Given the description of an element on the screen output the (x, y) to click on. 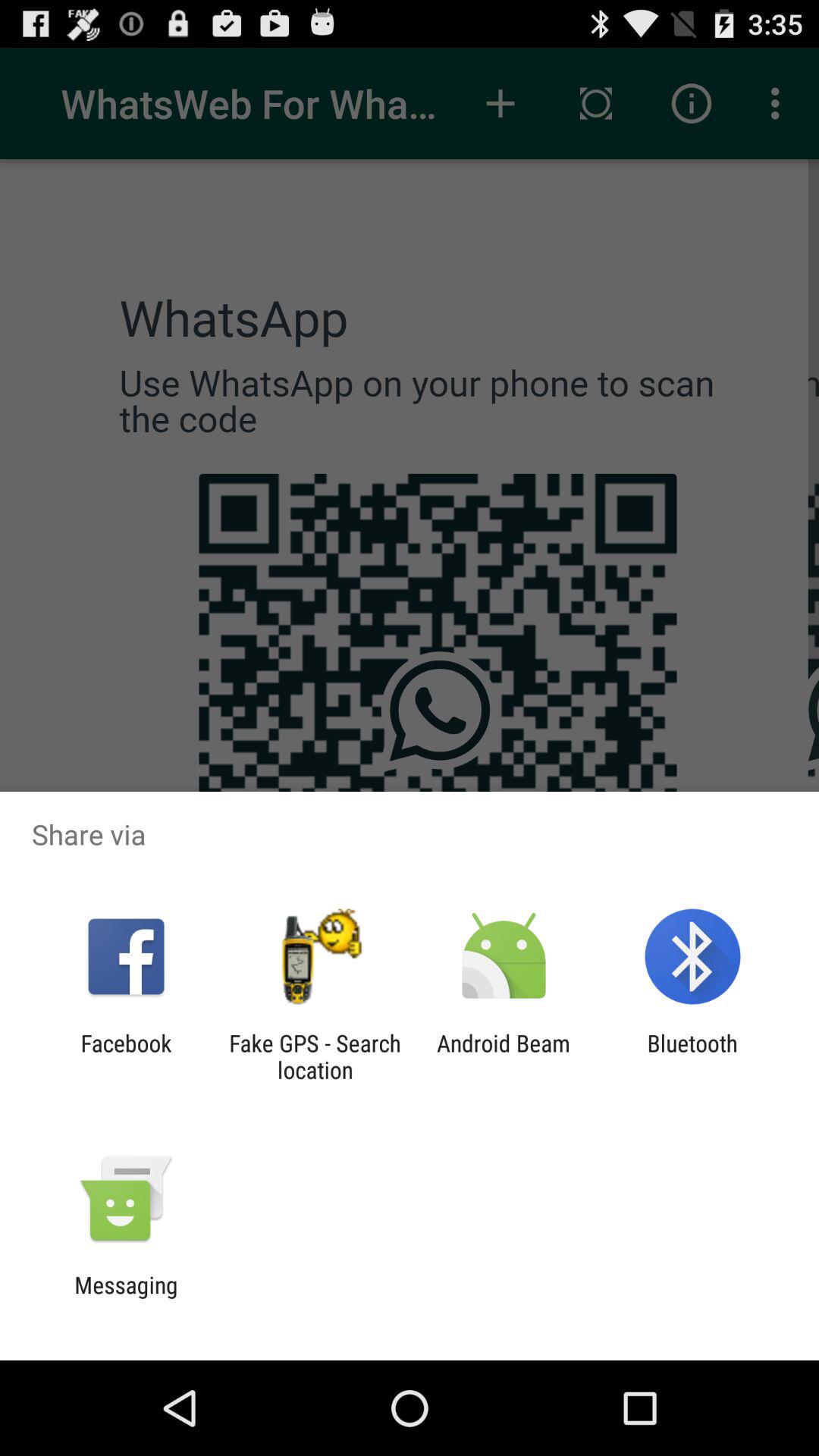
press the icon next to fake gps search item (125, 1056)
